Given the description of an element on the screen output the (x, y) to click on. 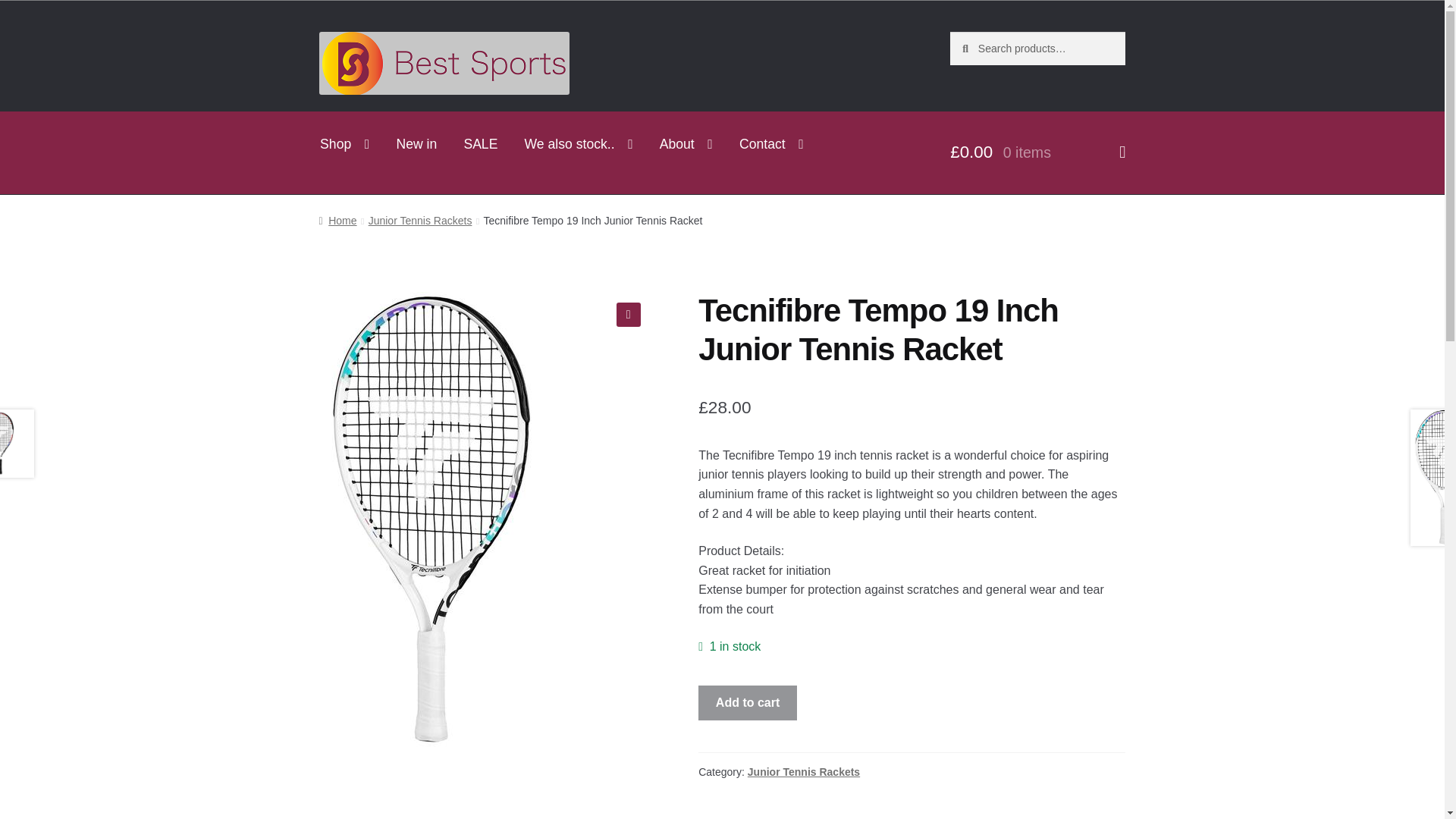
About (685, 143)
We also stock.. (578, 143)
Shop (344, 143)
View your shopping cart (1037, 152)
New in (415, 143)
SALE (480, 143)
Contact (770, 143)
